Given the description of an element on the screen output the (x, y) to click on. 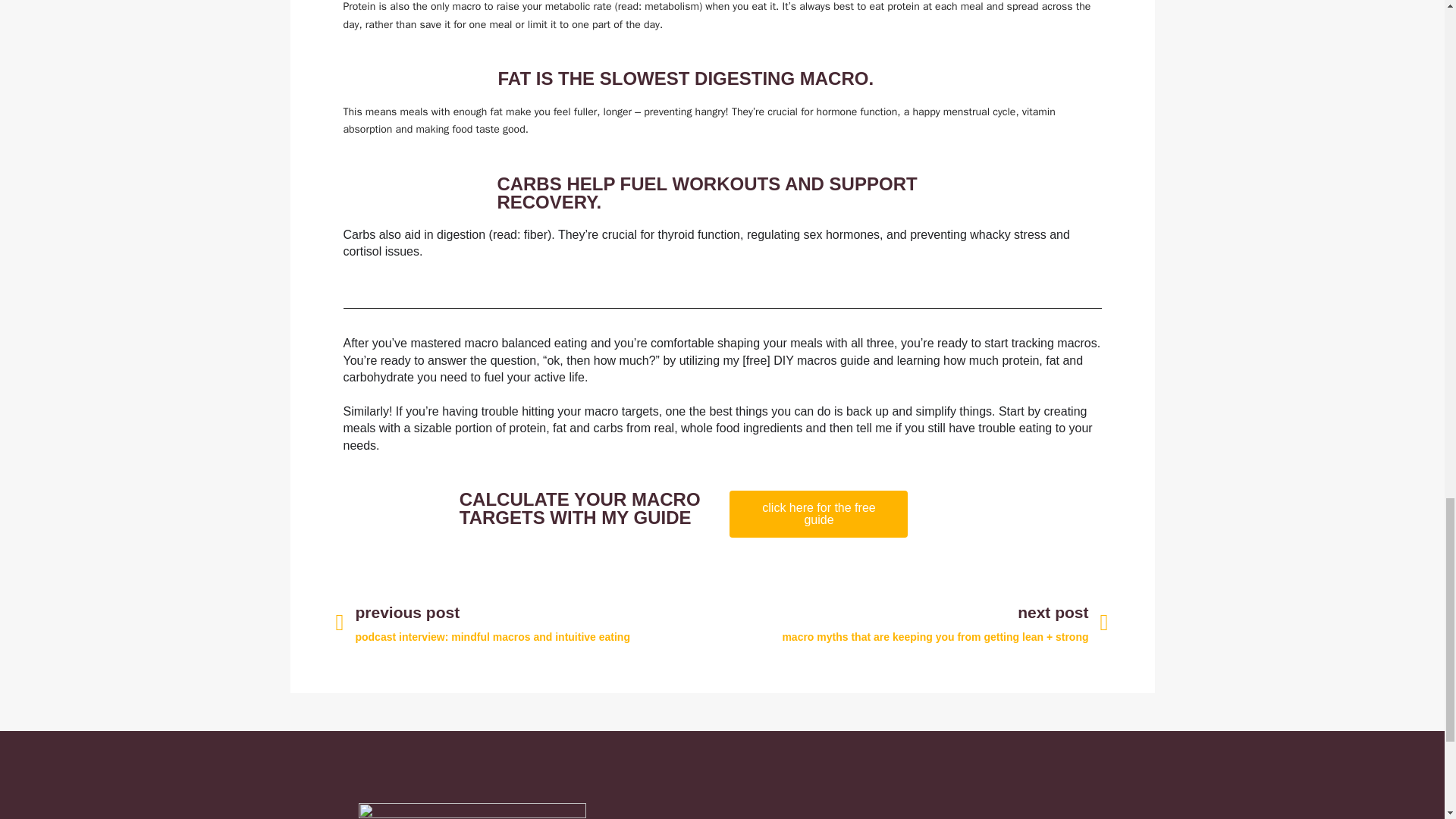
click here for the free guide (818, 513)
CALCULATE YOUR MACRO TARGETS WITH MY GUIDE (580, 507)
